Given the description of an element on the screen output the (x, y) to click on. 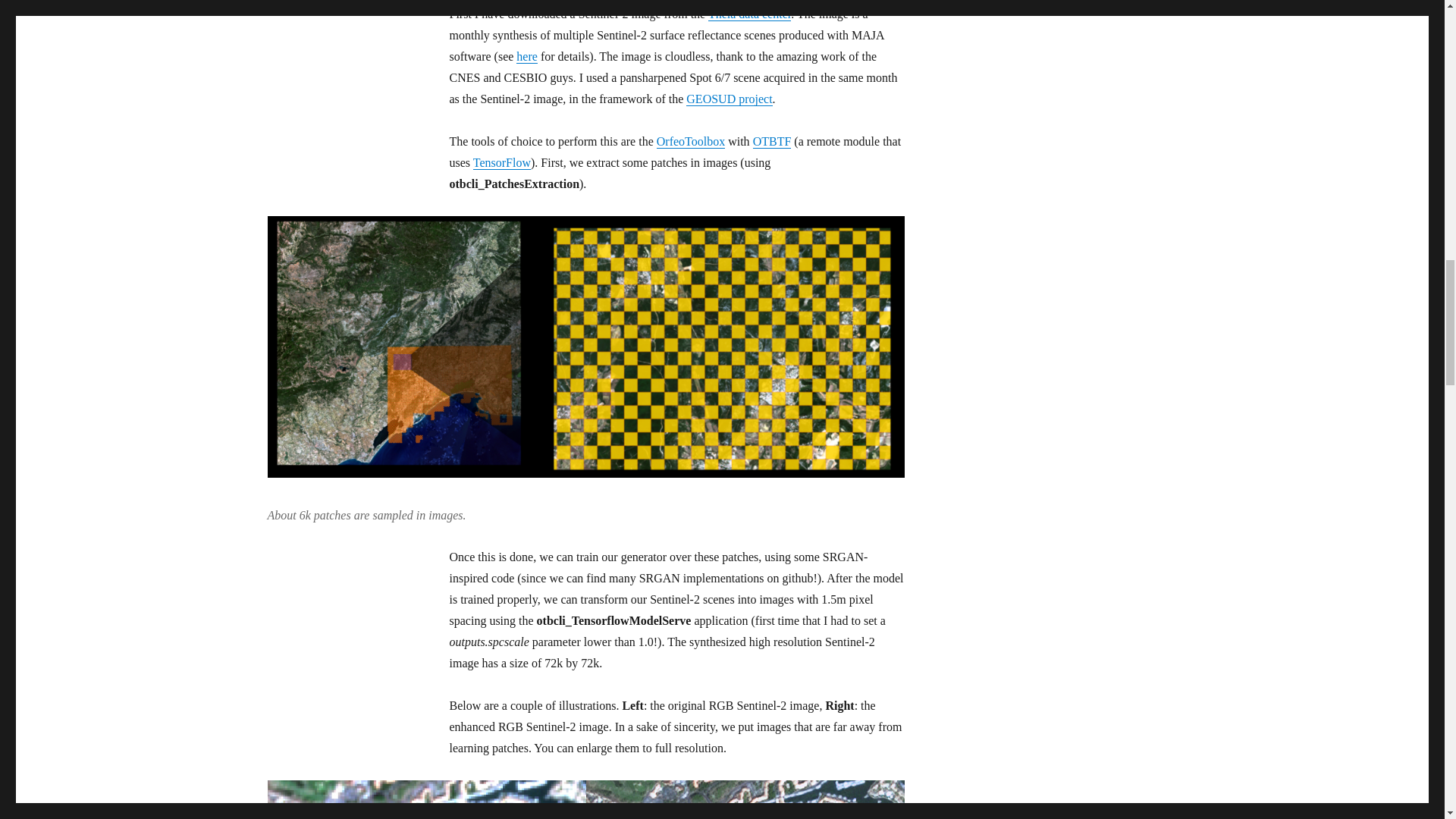
Theia data center (748, 13)
OTBTF (772, 141)
OrfeoToolbox (690, 141)
GEOSUD project (728, 98)
TensorFlow (502, 162)
here (526, 56)
